Given the description of an element on the screen output the (x, y) to click on. 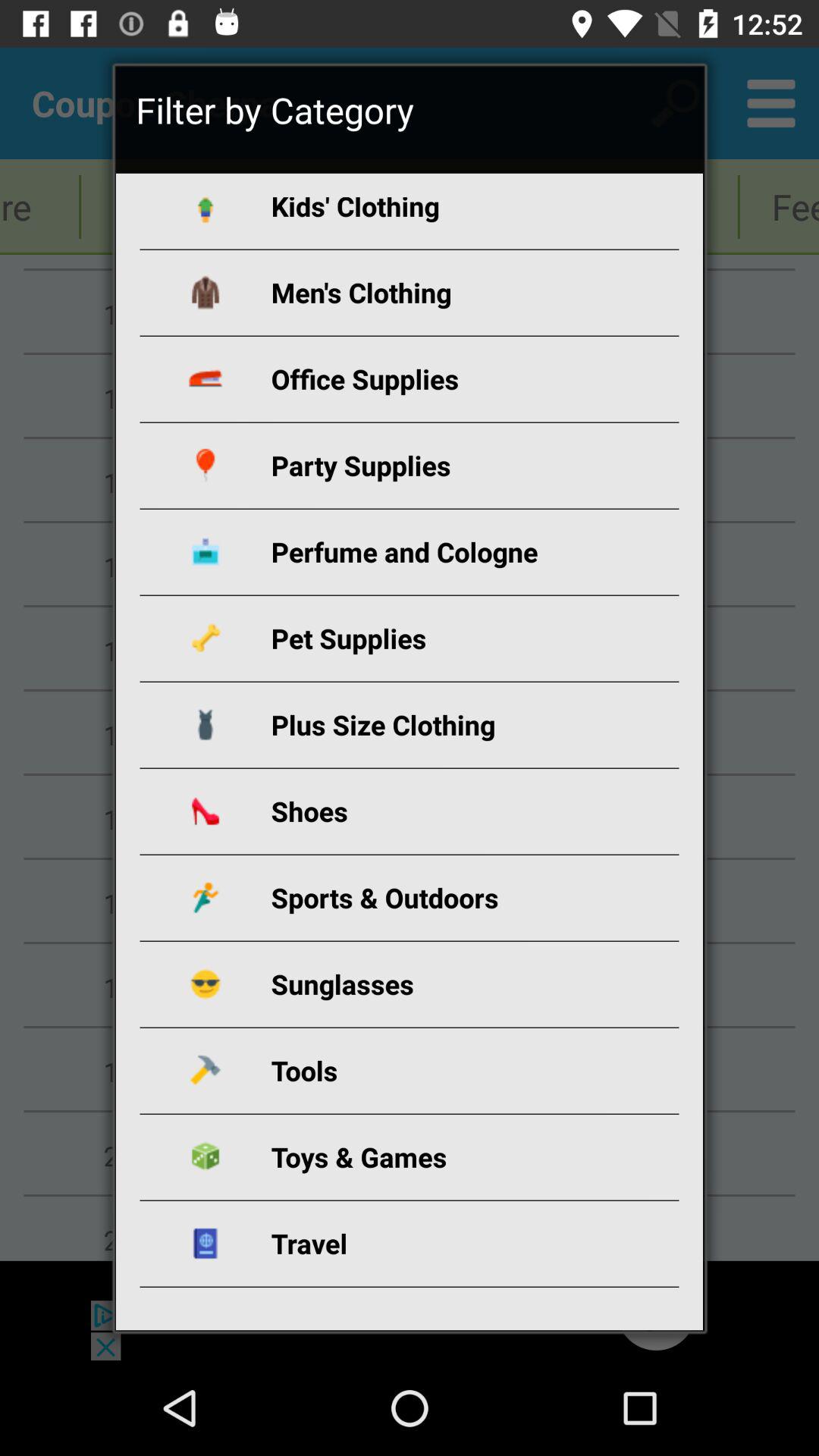
click sports & outdoors (427, 897)
